Given the description of an element on the screen output the (x, y) to click on. 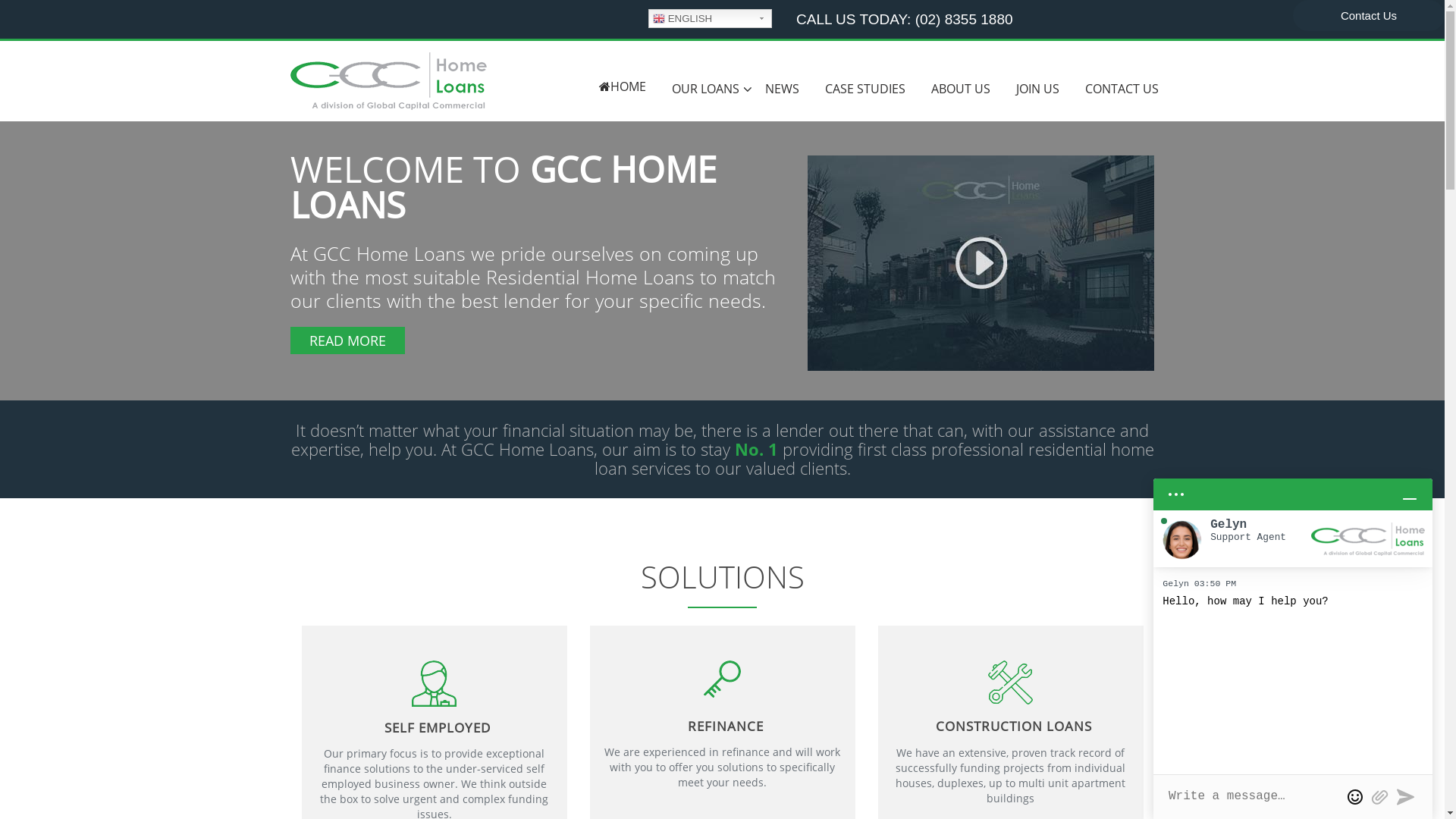
CONTACT US Element type: text (1121, 88)
READ MORE Element type: text (346, 340)
NEWS Element type: text (782, 88)
GCC Home Loans Element type: hover (387, 79)
(02) 8355 1880 Element type: text (964, 19)
ENGLISH Element type: text (709, 18)
HOME Element type: text (621, 86)
CASE STUDIES Element type: text (864, 88)
ABOUT US Element type: text (959, 88)
OUR LOANS Element type: text (704, 88)
JOIN US Element type: text (1036, 88)
